Given the description of an element on the screen output the (x, y) to click on. 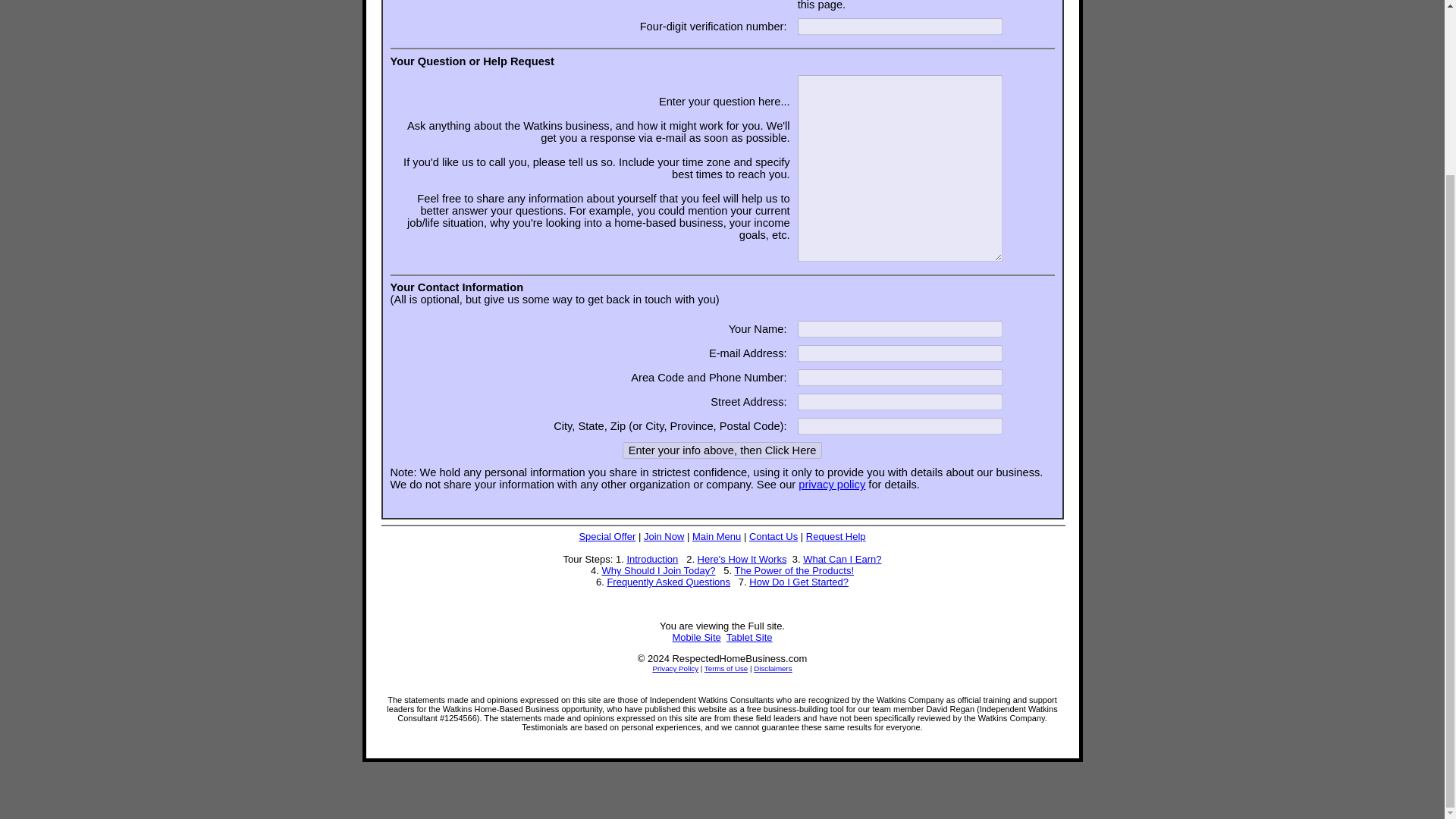
Request Help (836, 536)
Introduction (652, 559)
Mobile Site (695, 636)
privacy policy (830, 484)
Tablet Site (749, 636)
What Can I Earn? (841, 559)
Privacy Policy (675, 668)
Disclaimers (773, 668)
Main Menu (717, 536)
Here's How It Works (742, 559)
Terms of Use (726, 668)
Frequently Asked Questions (668, 582)
Why Should I Join Today? (657, 570)
Special Offer (606, 536)
The Power of the Products! (794, 570)
